Given the description of an element on the screen output the (x, y) to click on. 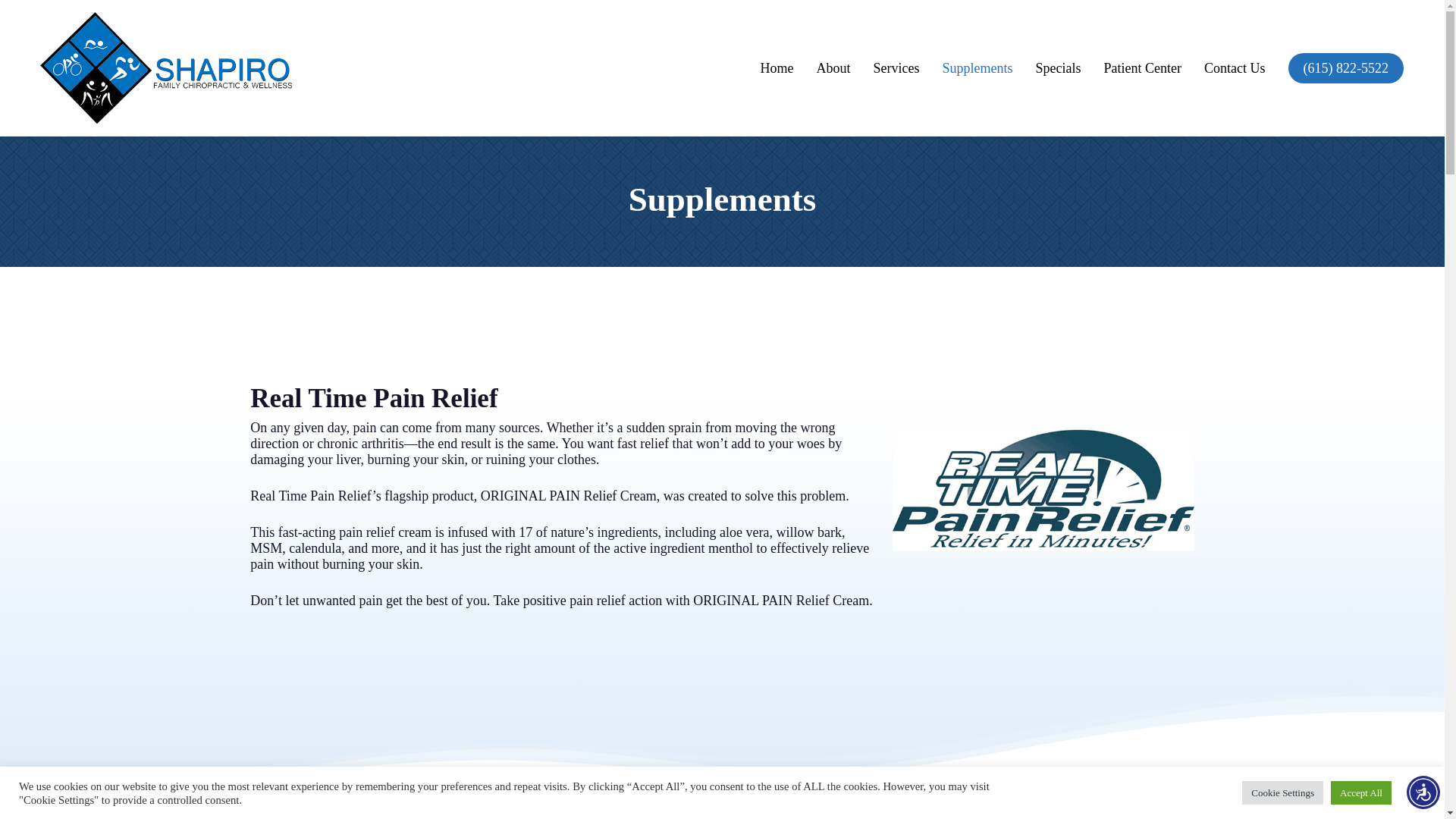
Patient Center (1142, 68)
Home (777, 68)
Specials (1059, 68)
Contact Us (1234, 68)
Services (896, 68)
Accessibility Menu (1422, 792)
Supplements (978, 68)
About (833, 68)
